Given the description of an element on the screen output the (x, y) to click on. 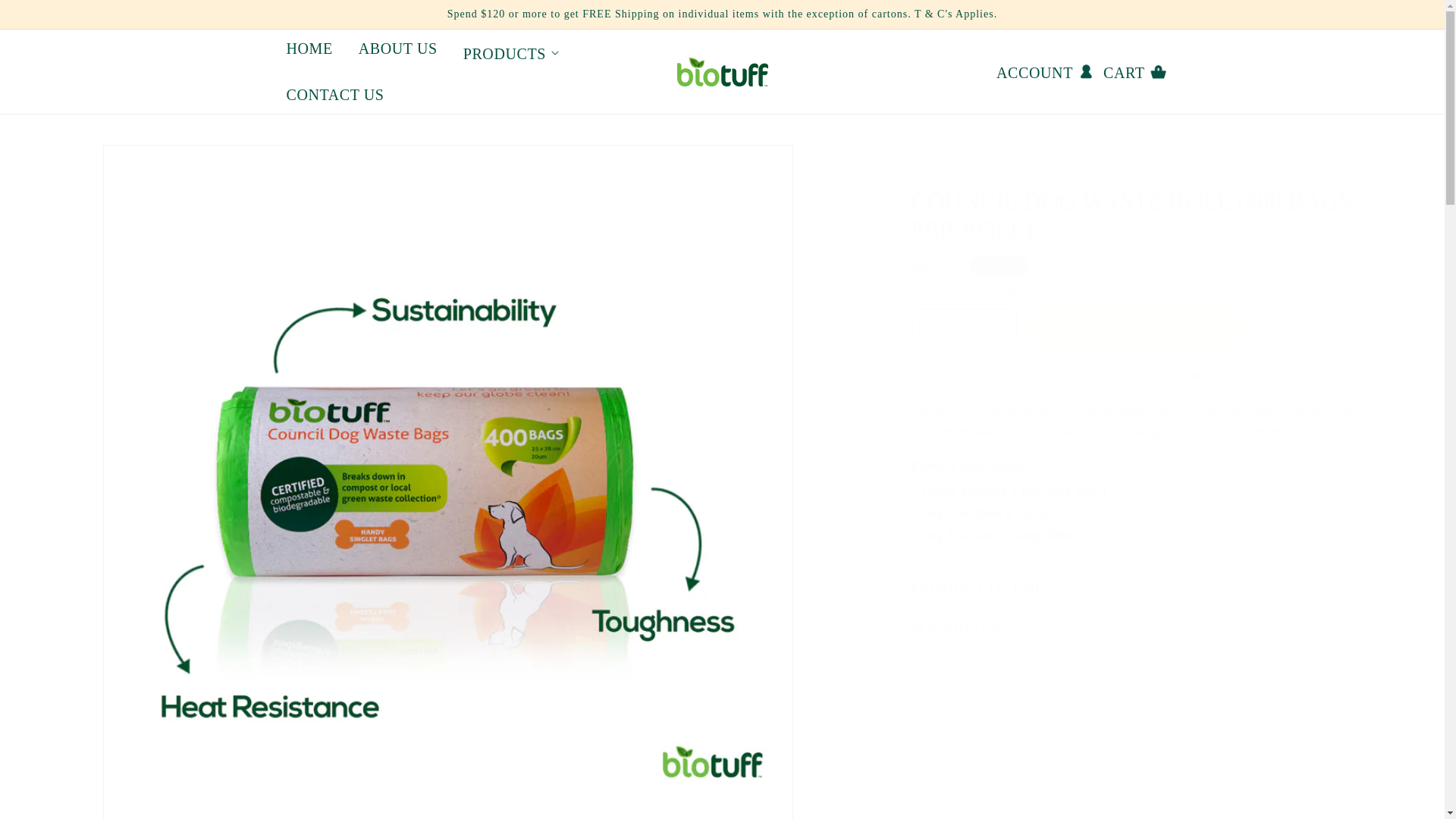
HOME (309, 48)
1 (964, 326)
Skip to content (45, 17)
